Given the description of an element on the screen output the (x, y) to click on. 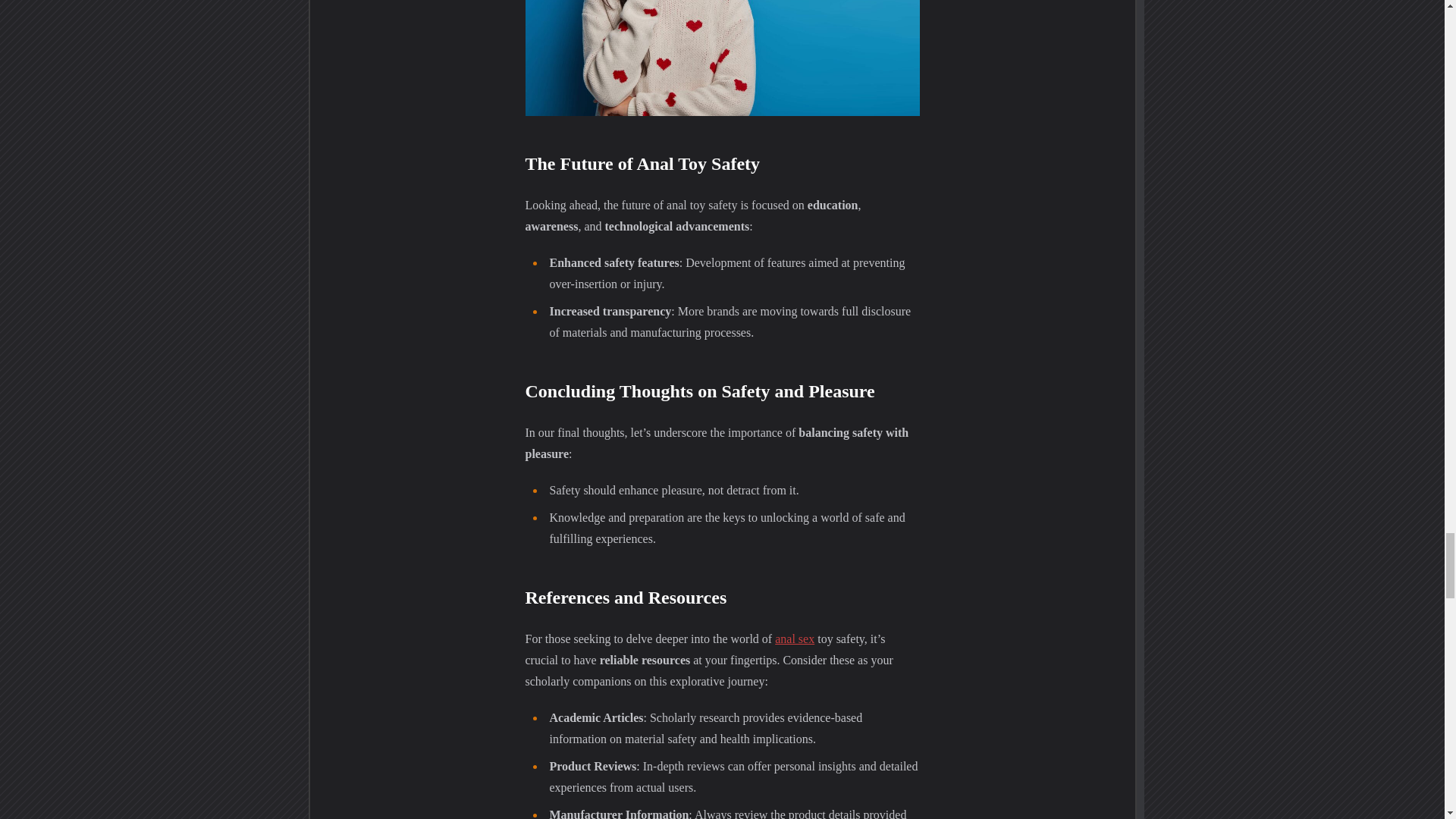
anal sex (793, 638)
